Given the description of an element on the screen output the (x, y) to click on. 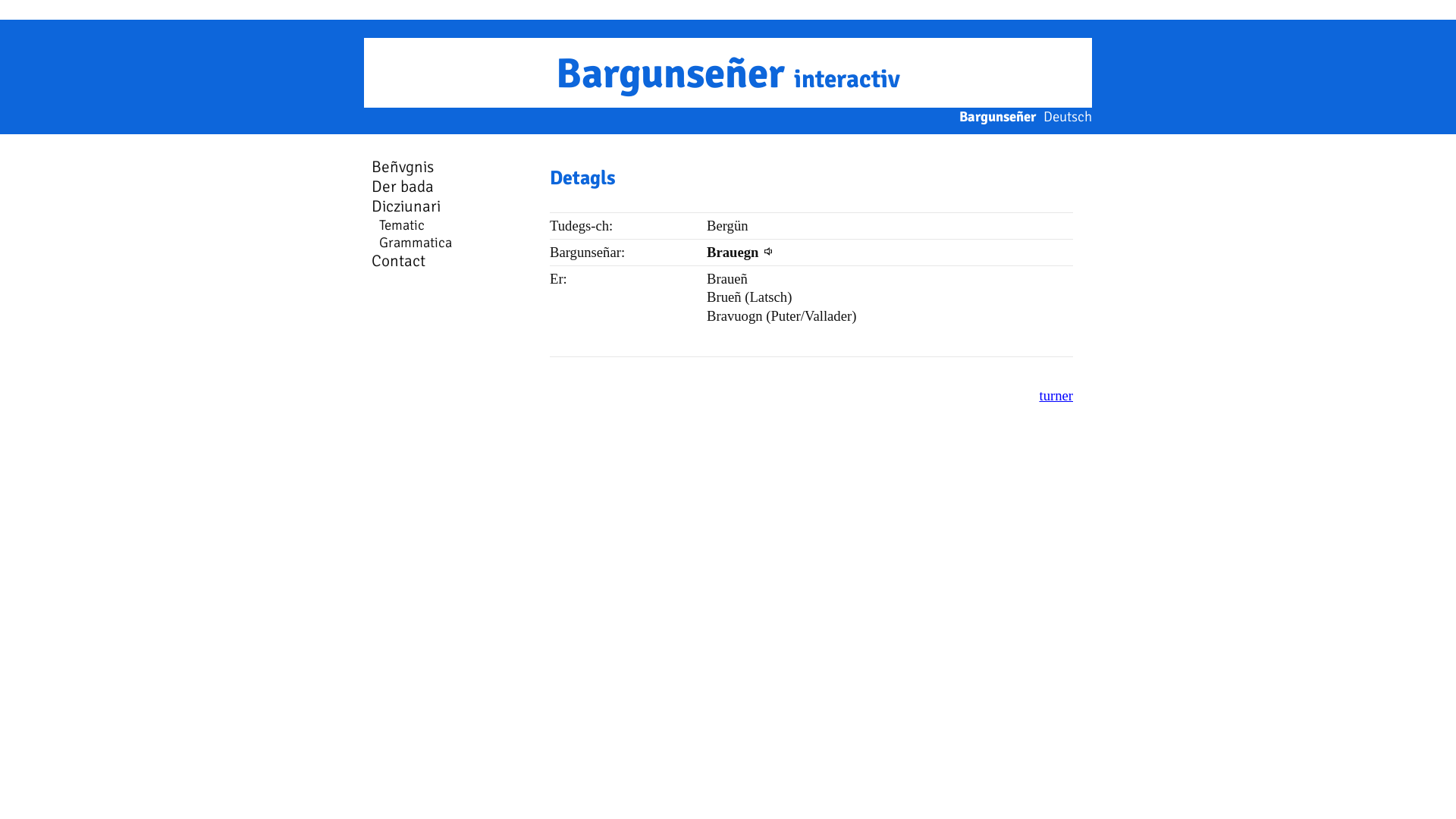
Tematic Element type: text (401, 224)
Skip navigation Element type: text (363, 156)
Deutsch Element type: text (1067, 116)
Contact Element type: text (398, 260)
Dicziunari Element type: text (405, 206)
Der bada Element type: text (402, 186)
Impressum Element type: text (1423, 9)
Grammatica Element type: text (415, 242)
turner Element type: text (1055, 395)
  Element type: text (363, 269)
